Given the description of an element on the screen output the (x, y) to click on. 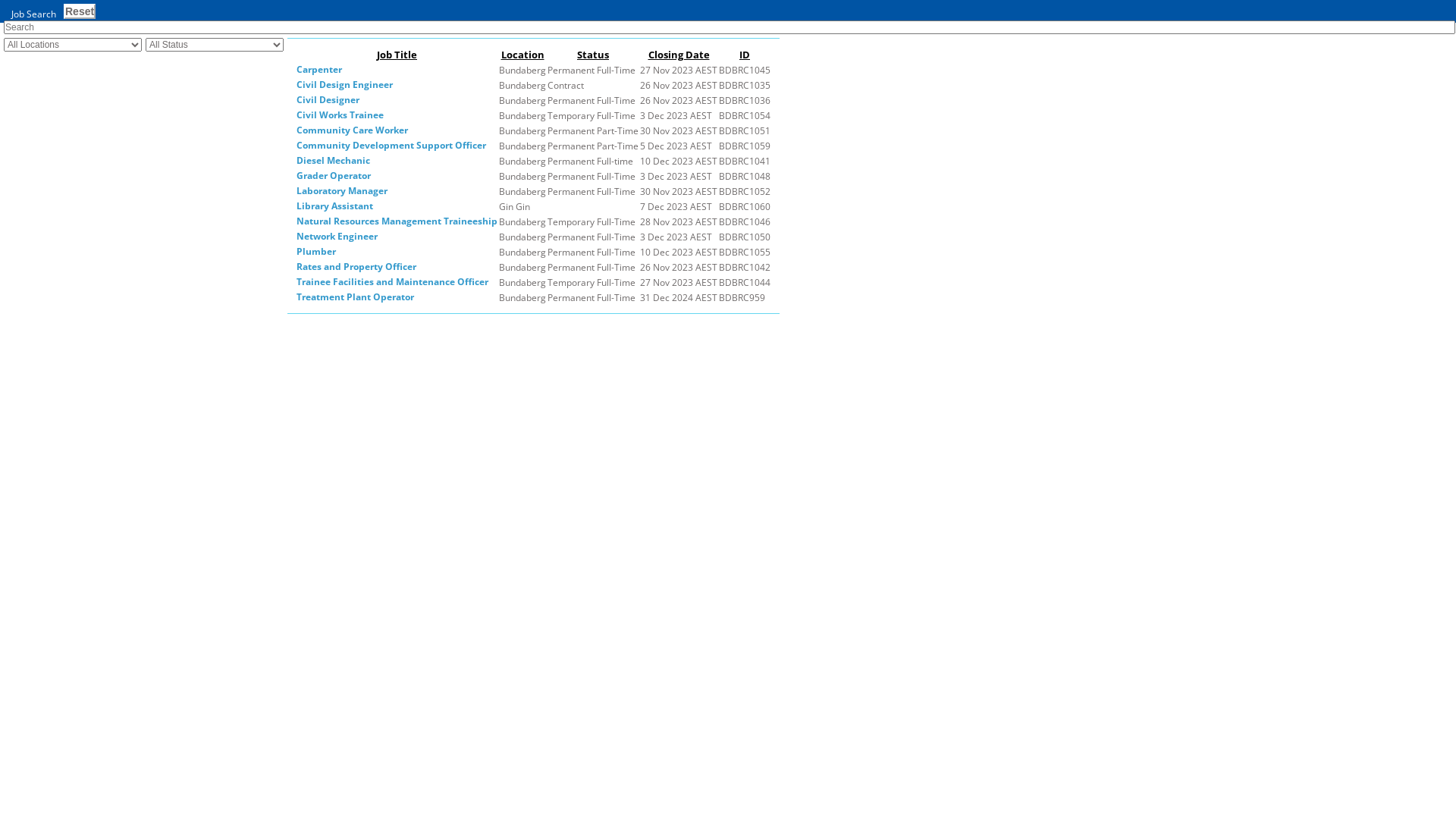
Grader Operator Element type: text (333, 175)
Treatment Plant Operator Element type: text (355, 297)
Community Care Worker Element type: text (351, 130)
Carpenter Element type: text (319, 69)
Civil Works Trainee Element type: text (339, 115)
Network Engineer Element type: text (336, 236)
Civil Design Engineer Element type: text (344, 84)
Community Development Support Officer Element type: text (391, 145)
Reset Element type: text (79, 10)
Trainee Facilities and Maintenance Officer Element type: text (392, 281)
Location Element type: text (521, 54)
Plumber Element type: text (315, 251)
Status Element type: text (592, 54)
Library Assistant Element type: text (334, 206)
Closing Date Element type: text (678, 54)
Diesel Mechanic Element type: text (333, 160)
Laboratory Manager Element type: text (341, 190)
Job Title Element type: text (396, 54)
ID Element type: text (744, 54)
Natural Resources Management Traineeship Element type: text (396, 221)
Rates and Property Officer Element type: text (356, 266)
Civil Designer Element type: text (327, 99)
